Given the description of an element on the screen output the (x, y) to click on. 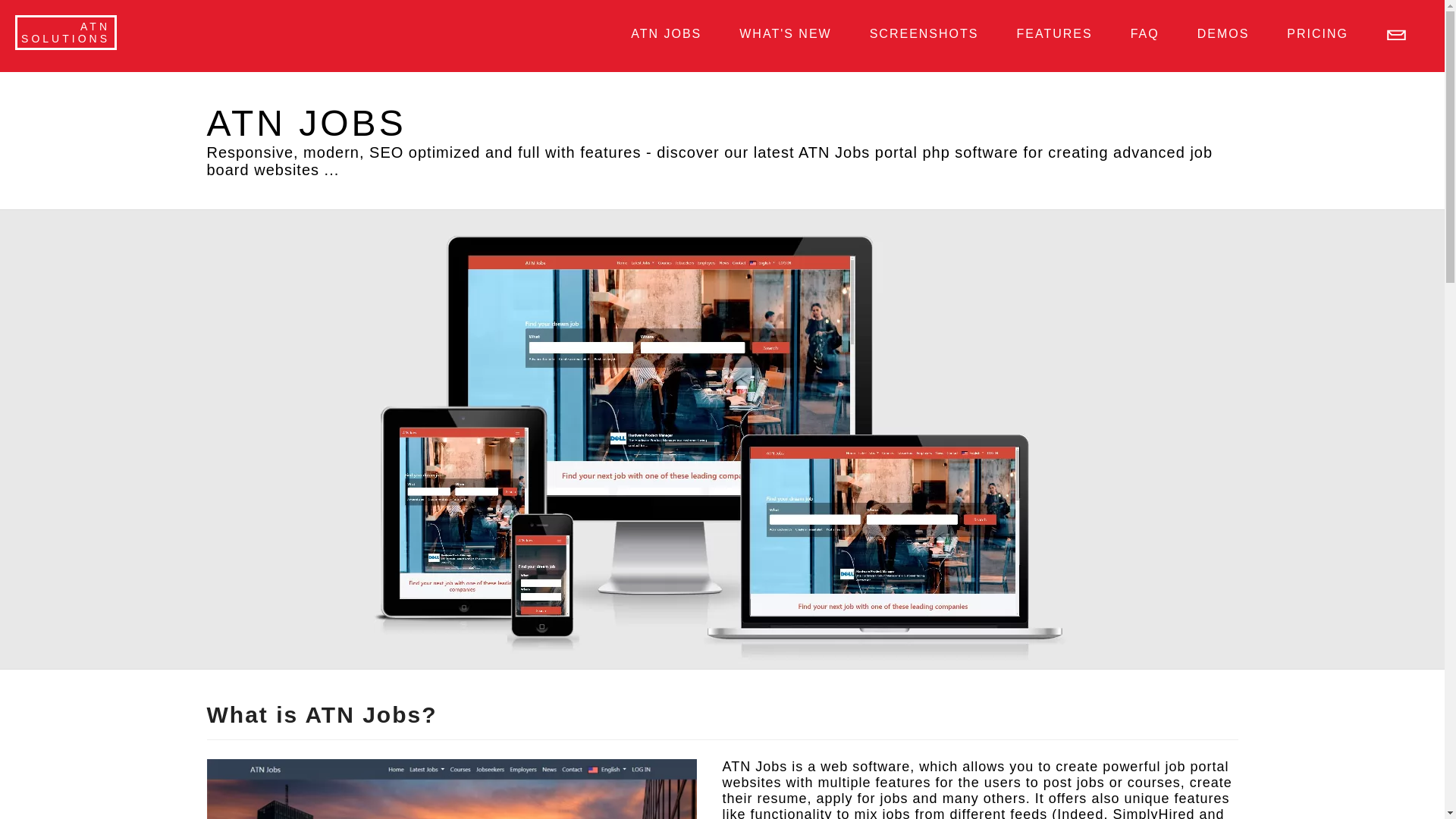
ATN JOBS (665, 33)
PRICING (65, 32)
DEMOS (1317, 33)
FEATURES (1222, 33)
SCREENSHOTS (1054, 33)
FAQ (923, 33)
WHAT'S NEW (1144, 33)
